Given the description of an element on the screen output the (x, y) to click on. 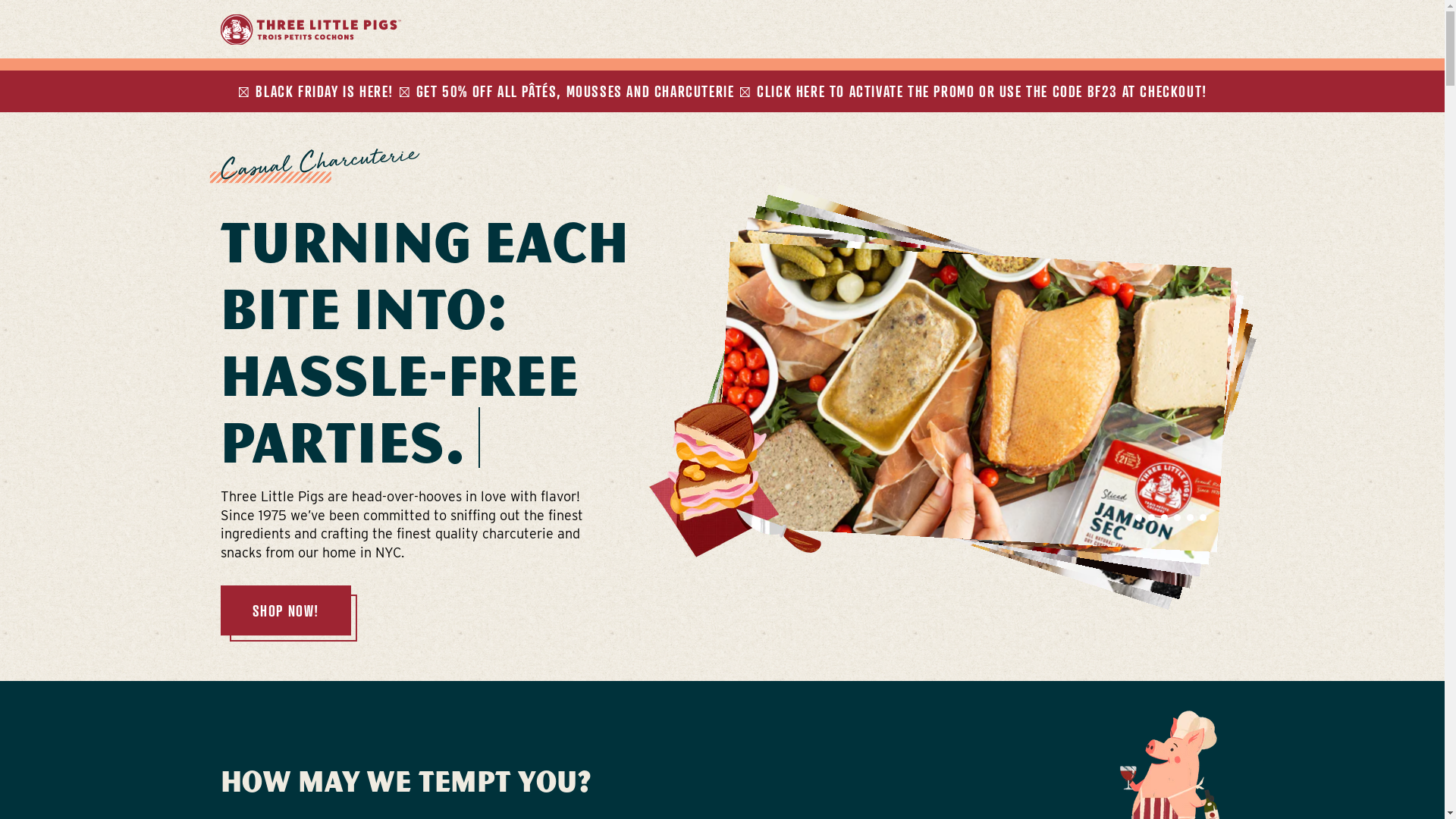
SHOP NOW! Element type: text (284, 610)
Skip to content Element type: text (721, 6)
